Given the description of an element on the screen output the (x, y) to click on. 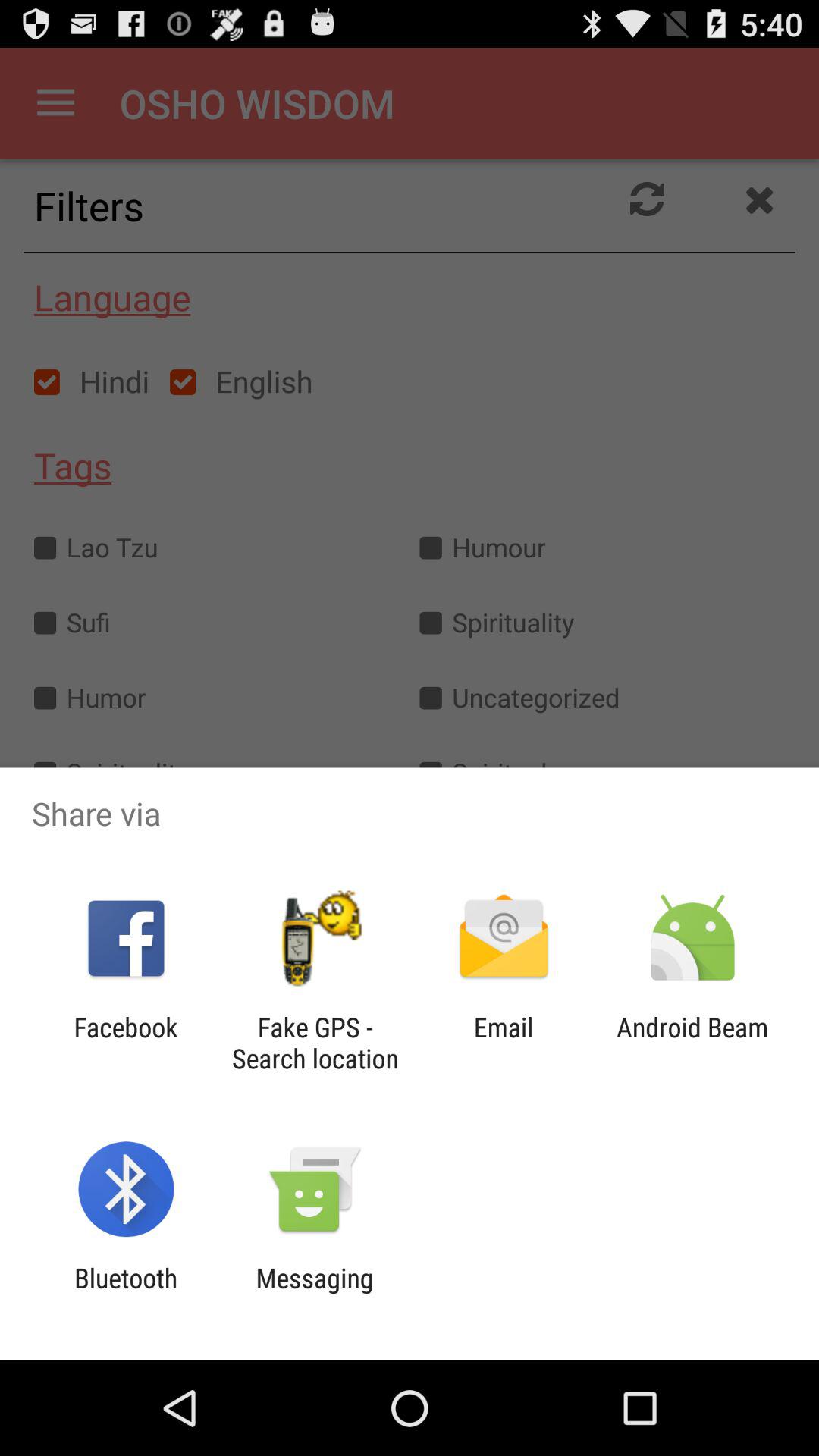
select the item at the bottom right corner (692, 1042)
